Given the description of an element on the screen output the (x, y) to click on. 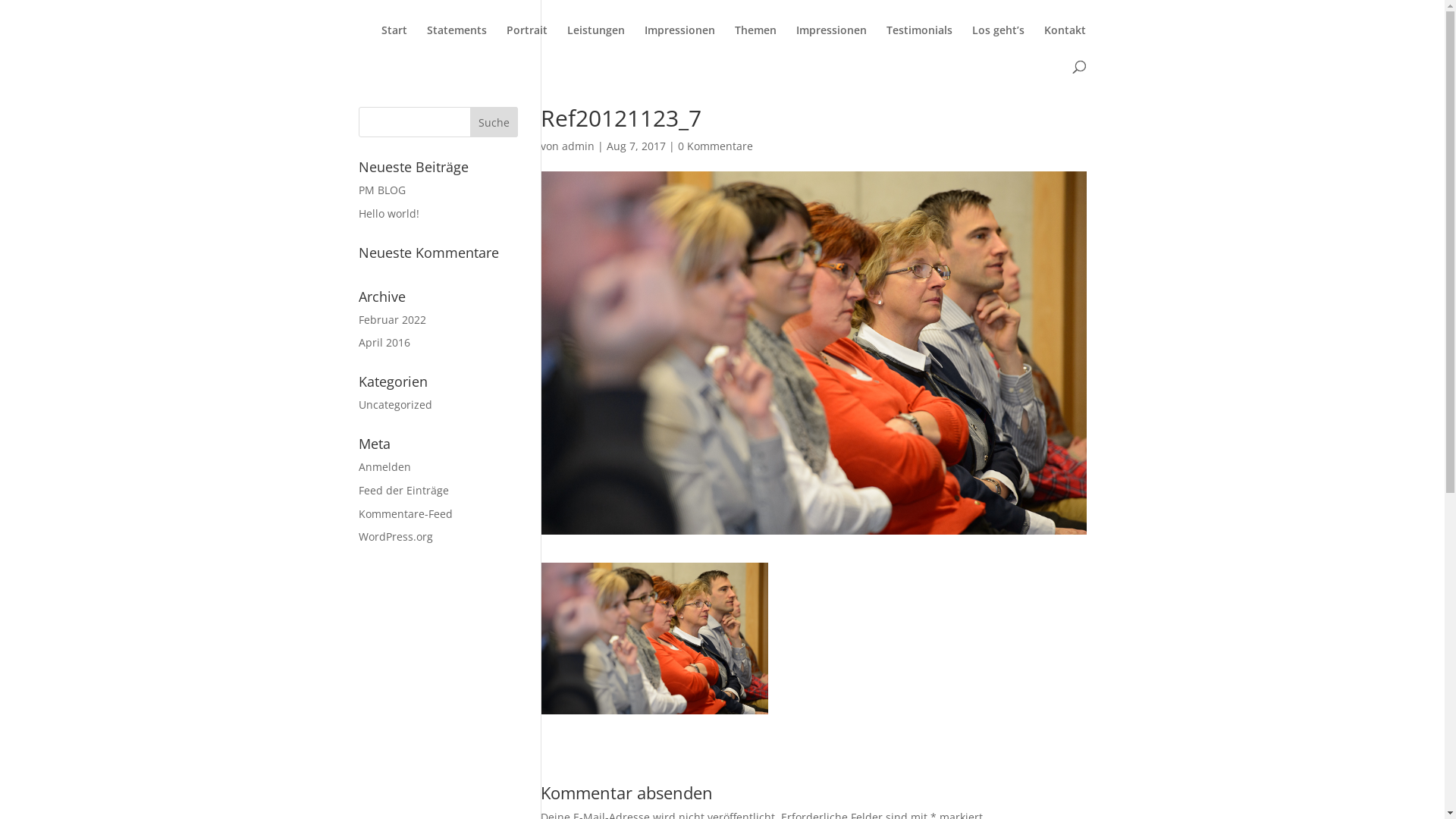
0 Kommentare Element type: text (715, 145)
Impressionen Element type: text (831, 42)
Kommentare-Feed Element type: text (404, 513)
Start Element type: text (393, 42)
Testimonials Element type: text (918, 42)
April 2016 Element type: text (383, 342)
Statements Element type: text (456, 42)
Leistungen Element type: text (595, 42)
Themen Element type: text (754, 42)
PM BLOG Element type: text (380, 189)
Hello world! Element type: text (387, 213)
Suche Element type: text (493, 121)
Uncategorized Element type: text (394, 404)
Anmelden Element type: text (383, 466)
Impressionen Element type: text (679, 42)
Kontakt Element type: text (1064, 42)
Portrait Element type: text (526, 42)
Februar 2022 Element type: text (391, 319)
admin Element type: text (577, 145)
WordPress.org Element type: text (394, 536)
